Given the description of an element on the screen output the (x, y) to click on. 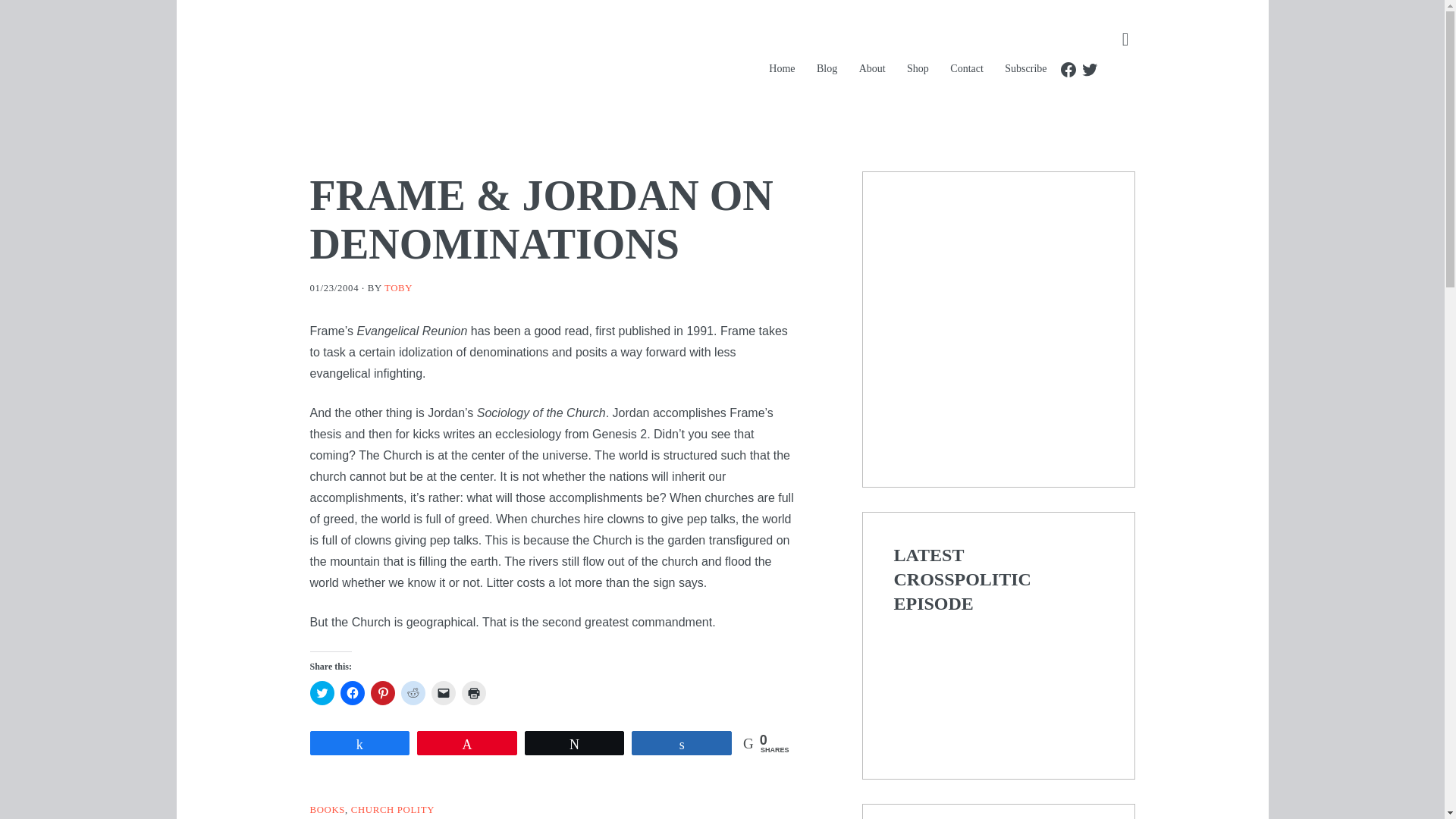
HAVING TWO LEGS (534, 60)
Click to email a link to a friend (442, 692)
Click to share on Twitter (320, 692)
Click to share on Reddit (412, 692)
Click to share on Facebook (351, 692)
BOOKS (326, 809)
Click to share on Pinterest (381, 692)
YouTube player (998, 685)
Click to print (472, 692)
